Given the description of an element on the screen output the (x, y) to click on. 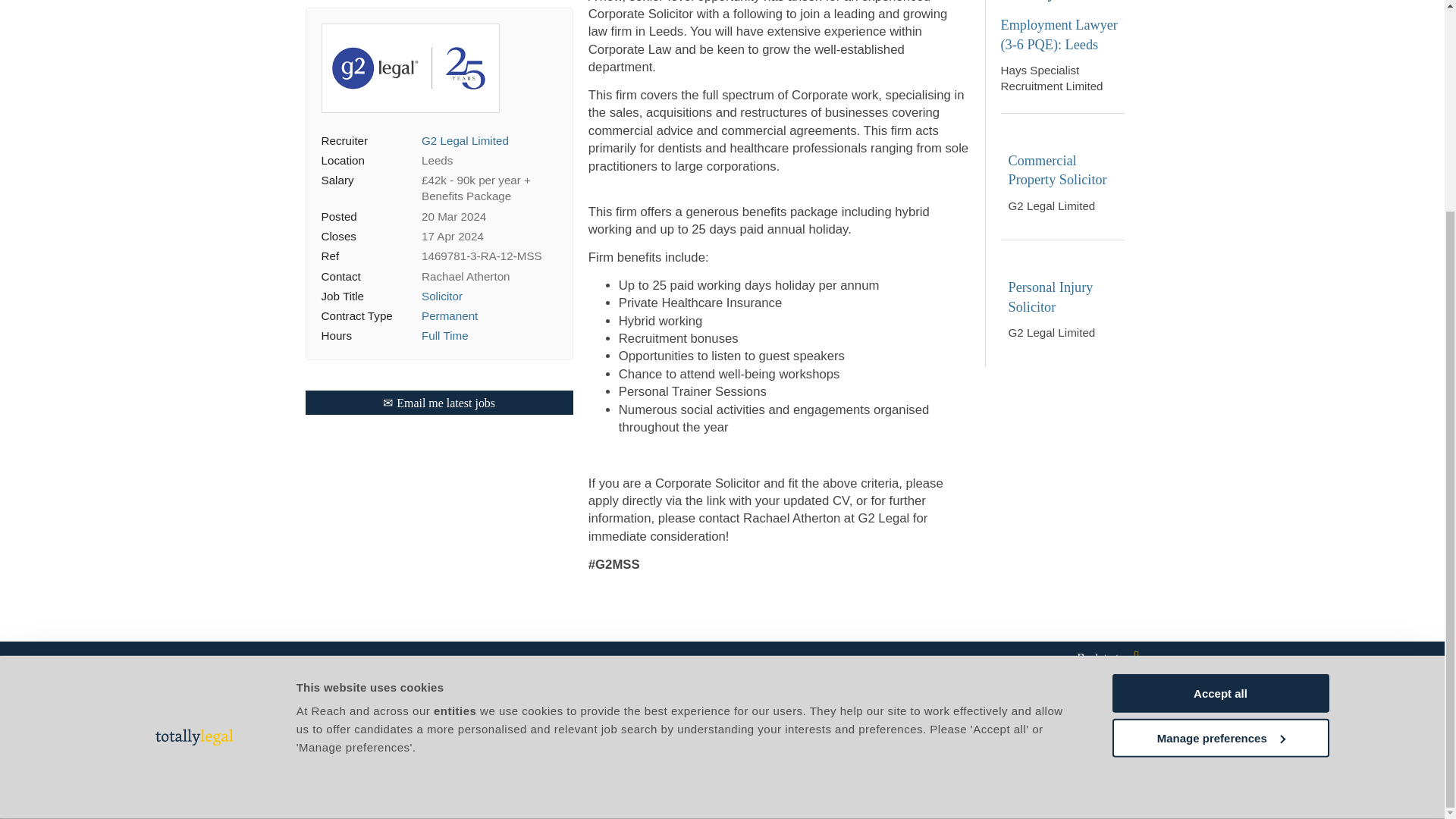
Back to top (721, 657)
entities (455, 436)
